Given the description of an element on the screen output the (x, y) to click on. 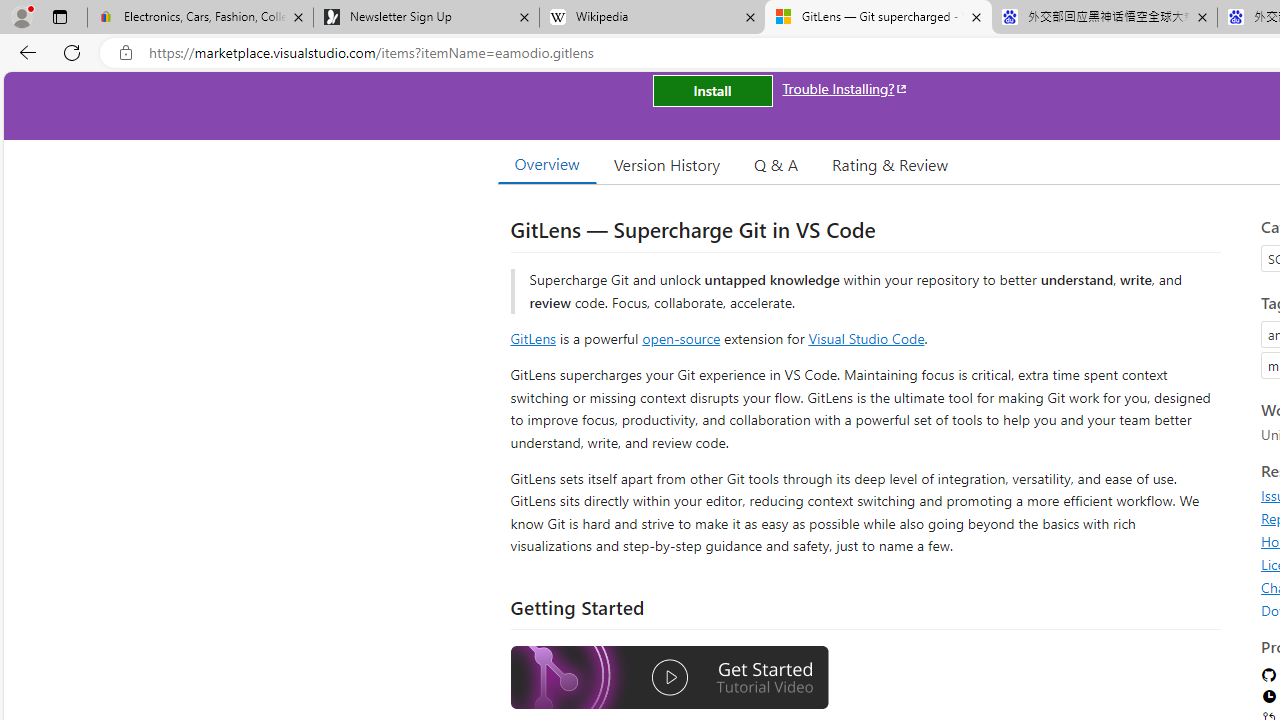
Q & A (776, 164)
Rating & Review (890, 164)
Newsletter Sign Up (425, 17)
open-source (681, 337)
Overview (546, 164)
